Given the description of an element on the screen output the (x, y) to click on. 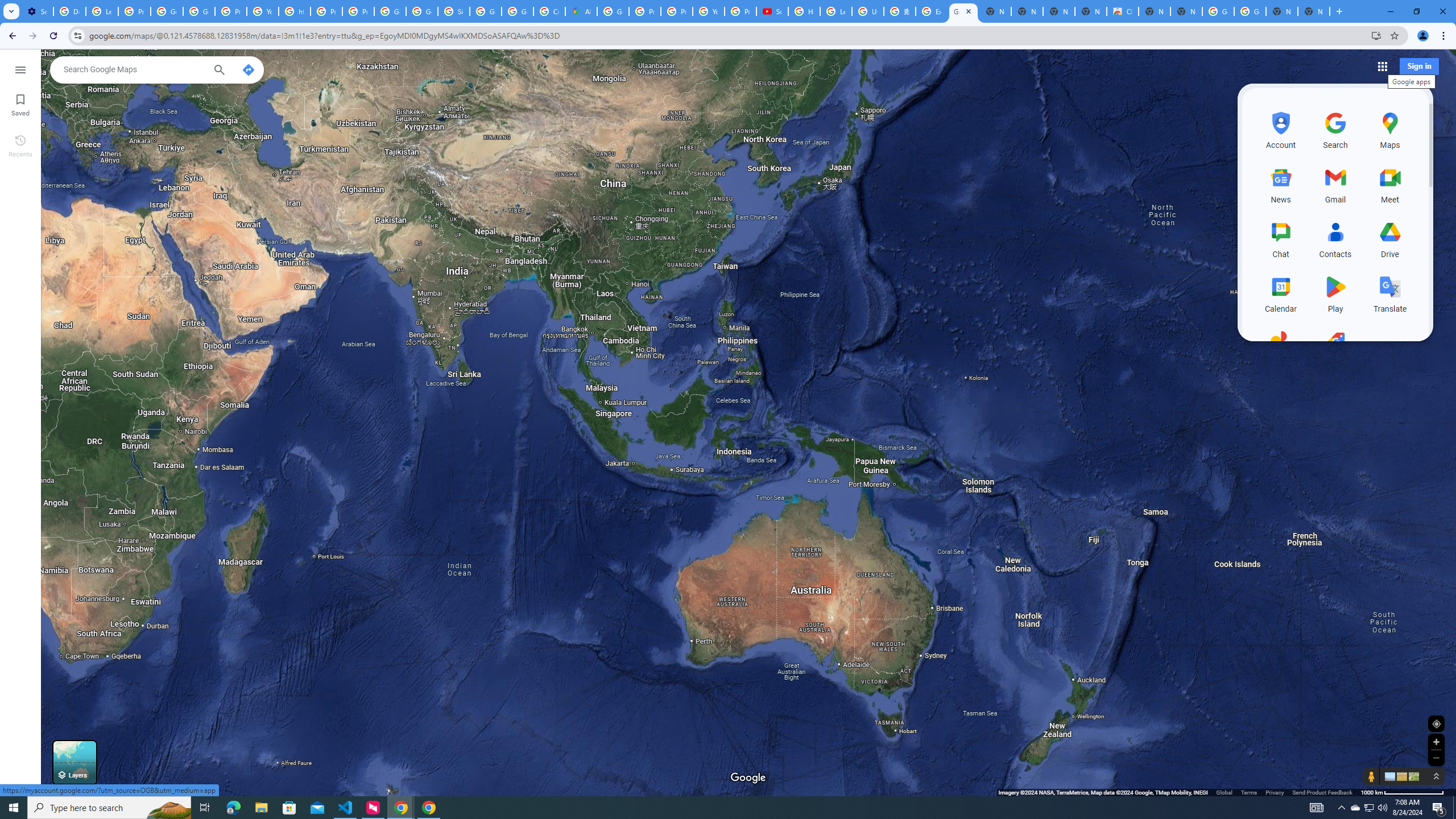
Subscriptions - YouTube (772, 11)
YouTube (708, 11)
Privacy Help Center - Policies Help (676, 11)
Recents (20, 145)
Show Your Location (1436, 723)
Google Account Help (166, 11)
